Given the description of an element on the screen output the (x, y) to click on. 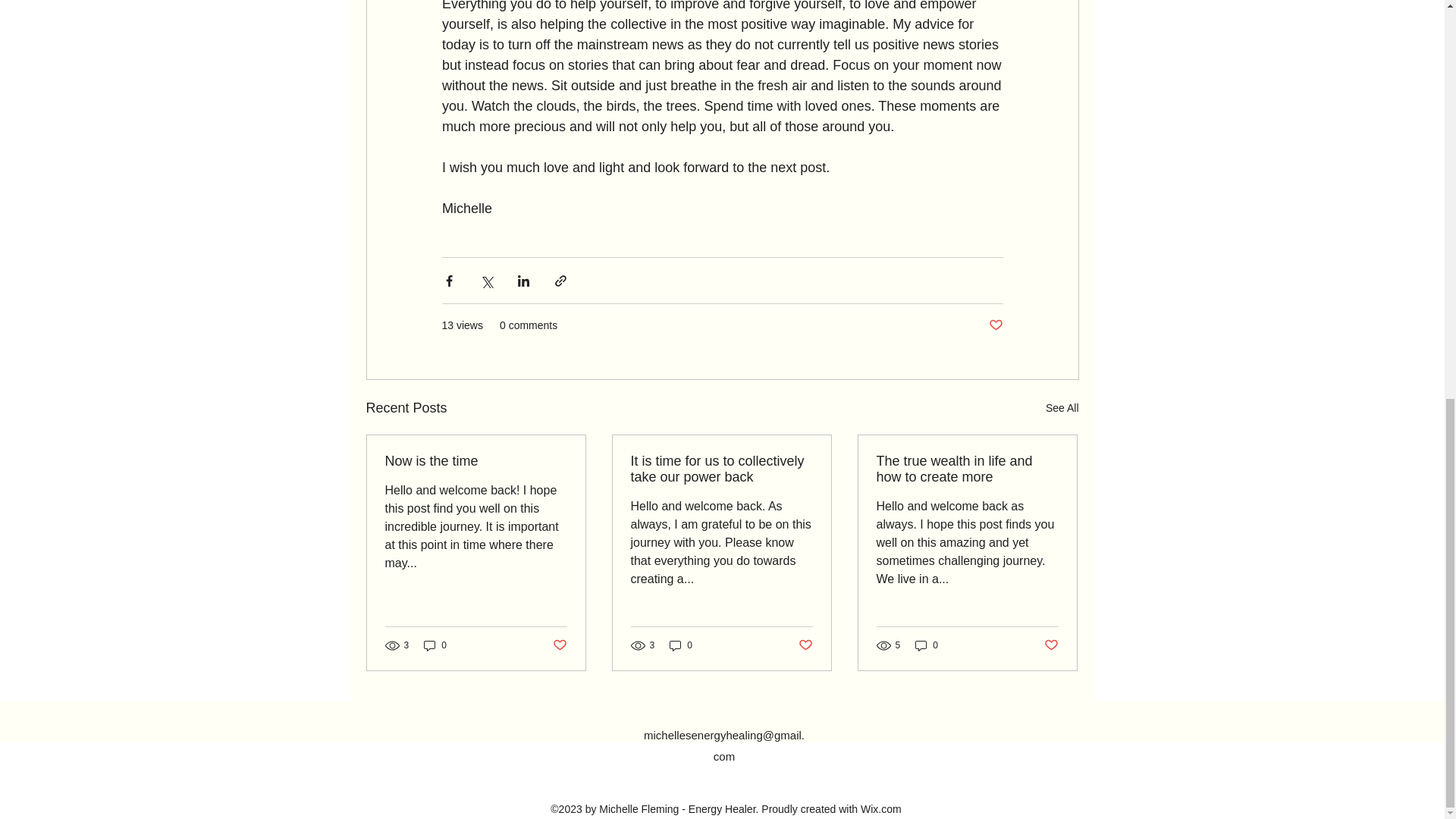
0 (681, 645)
Post not marked as liked (558, 644)
Post not marked as liked (995, 325)
Post not marked as liked (804, 644)
0 (926, 645)
Now is the time (476, 461)
Post not marked as liked (1050, 644)
See All (1061, 408)
0 (435, 645)
The true wealth in life and how to create more (967, 469)
